Given the description of an element on the screen output the (x, y) to click on. 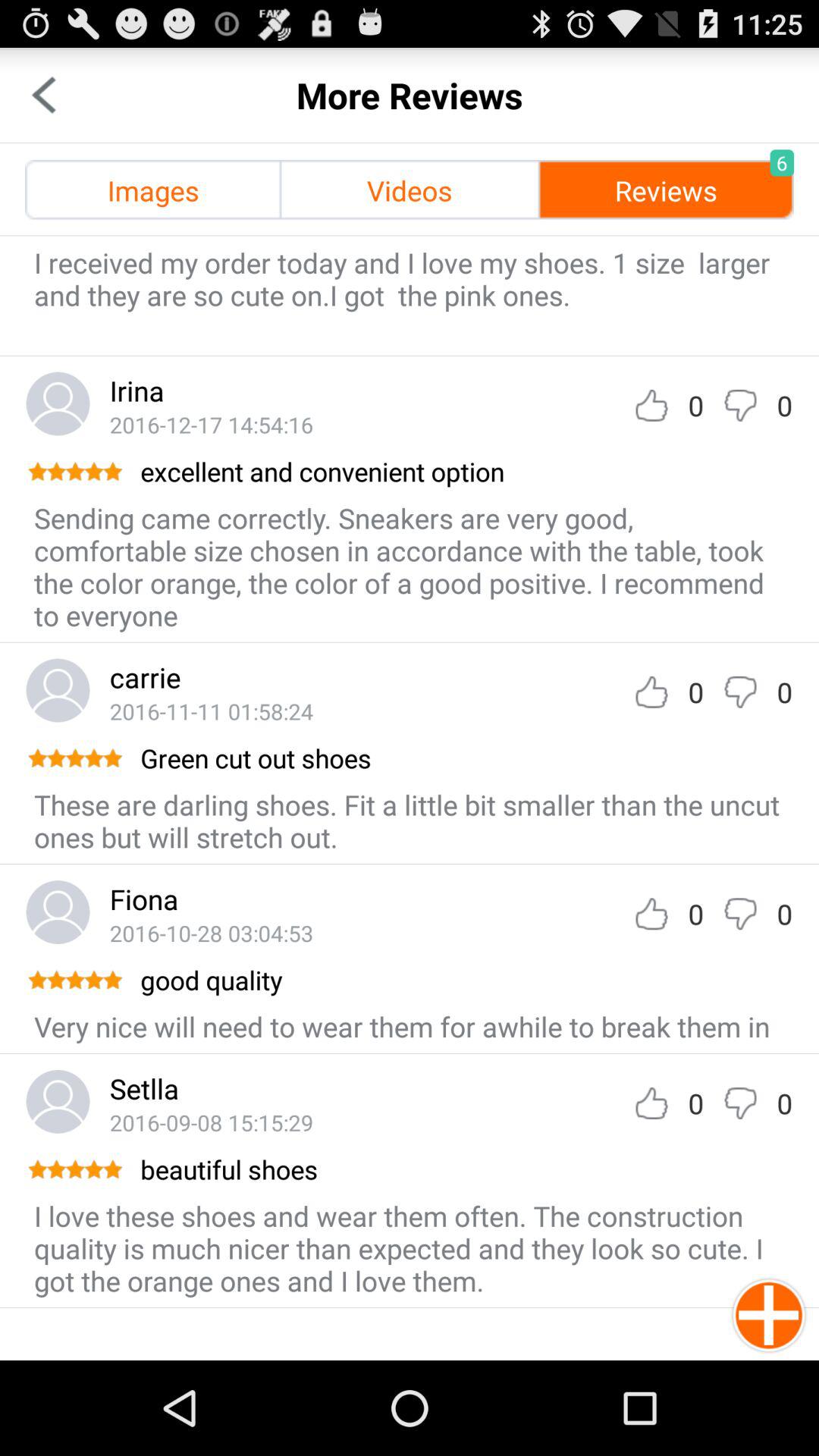
like option (651, 405)
